Given the description of an element on the screen output the (x, y) to click on. 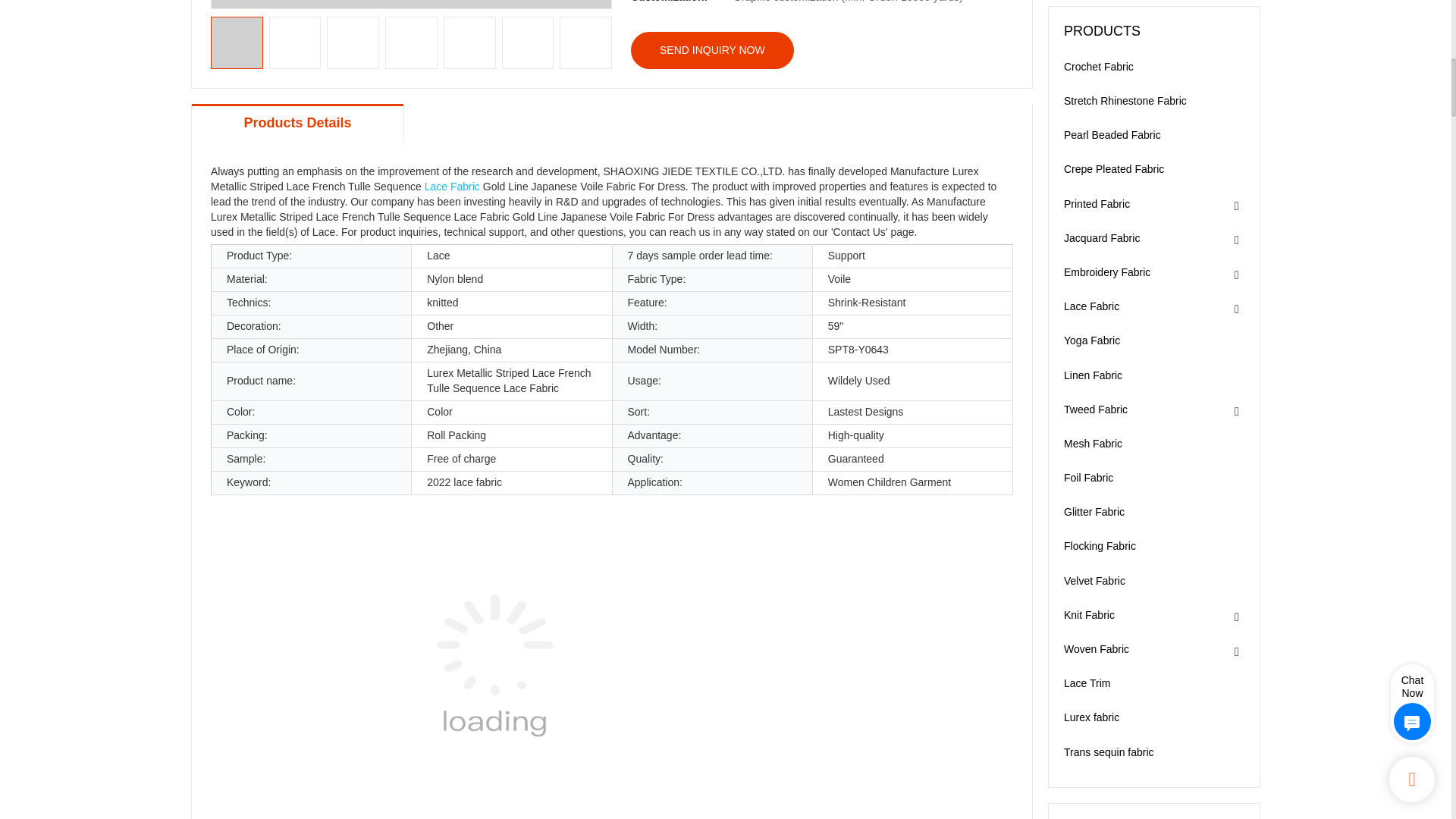
Lace Fabric (452, 186)
